Given the description of an element on the screen output the (x, y) to click on. 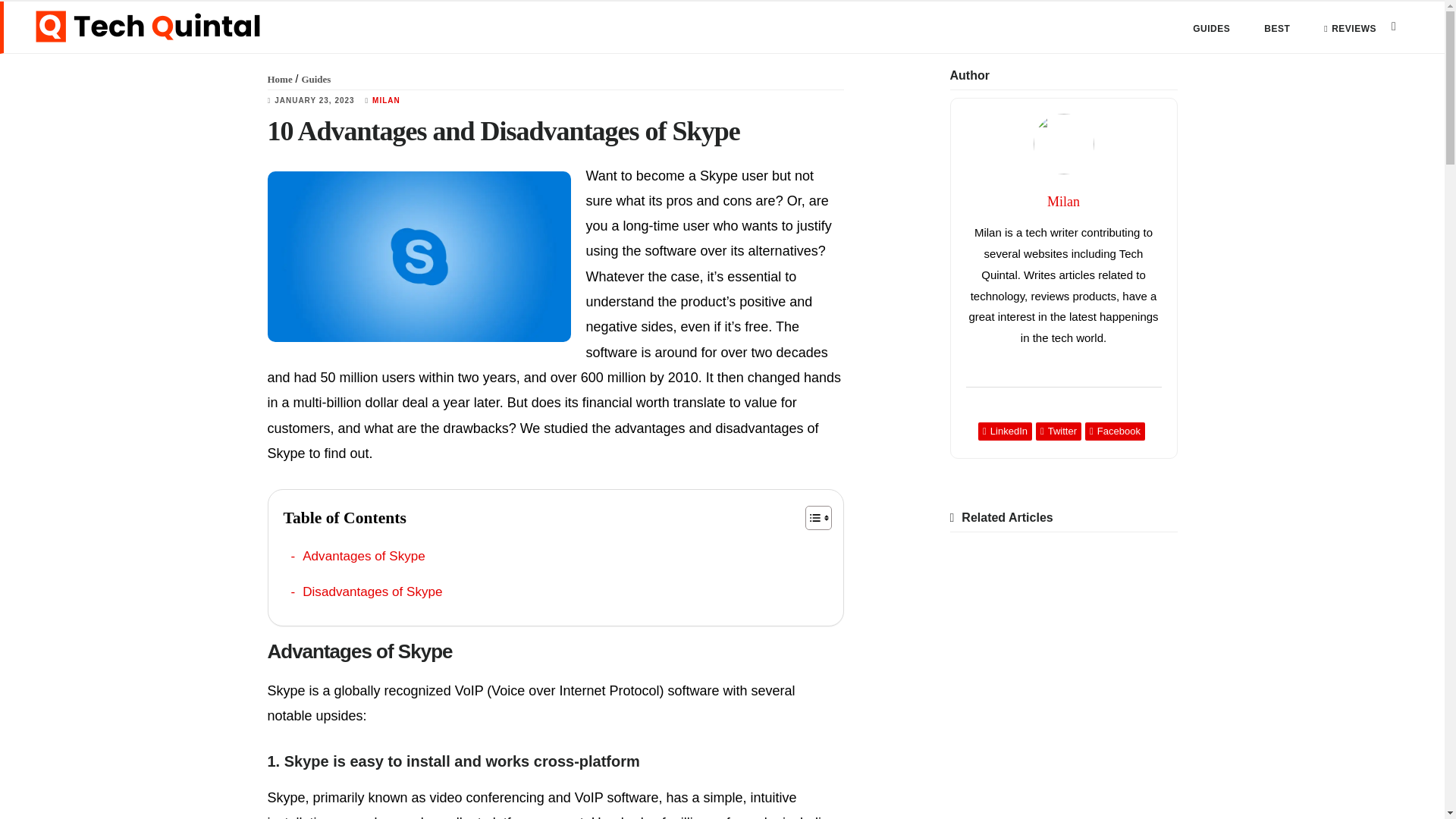
BEST (1276, 28)
LinkedIn (1005, 431)
Disadvantages of Skype (366, 591)
TECH QUINTAL (147, 26)
LinkedIn (1005, 431)
Facebook (1114, 431)
REVIEWS (1350, 28)
Facebook (1114, 431)
